Given the description of an element on the screen output the (x, y) to click on. 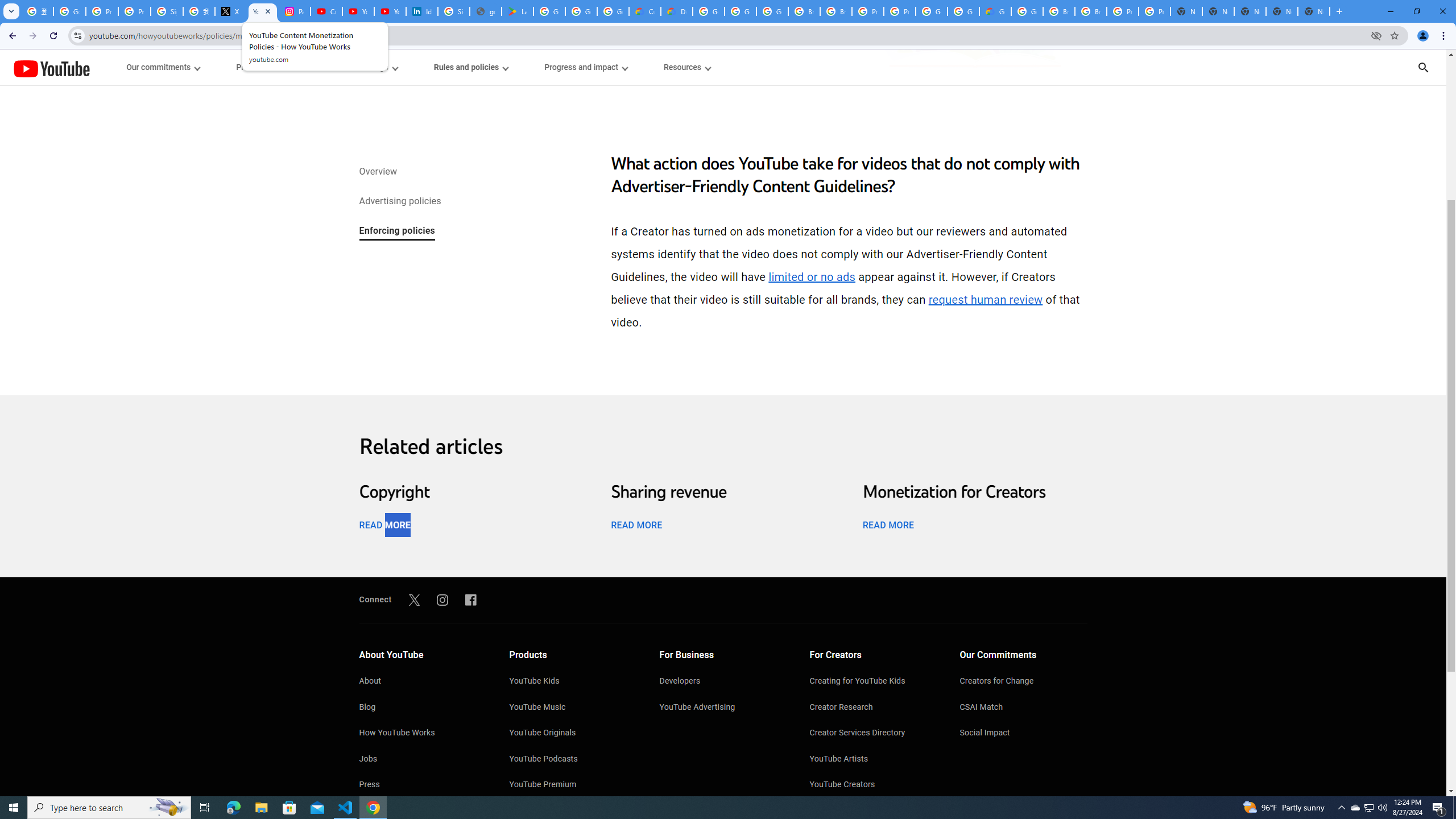
Facebook (470, 599)
Browse Chrome as a guest - Computer - Google Chrome Help (804, 11)
Restore (1416, 11)
Address and search bar (726, 35)
YouTube Culture & Trends - YouTube Top 10, 2021 (389, 11)
How YouTube Works (422, 733)
Privacy Help Center - Policies Help (134, 11)
